Given the description of an element on the screen output the (x, y) to click on. 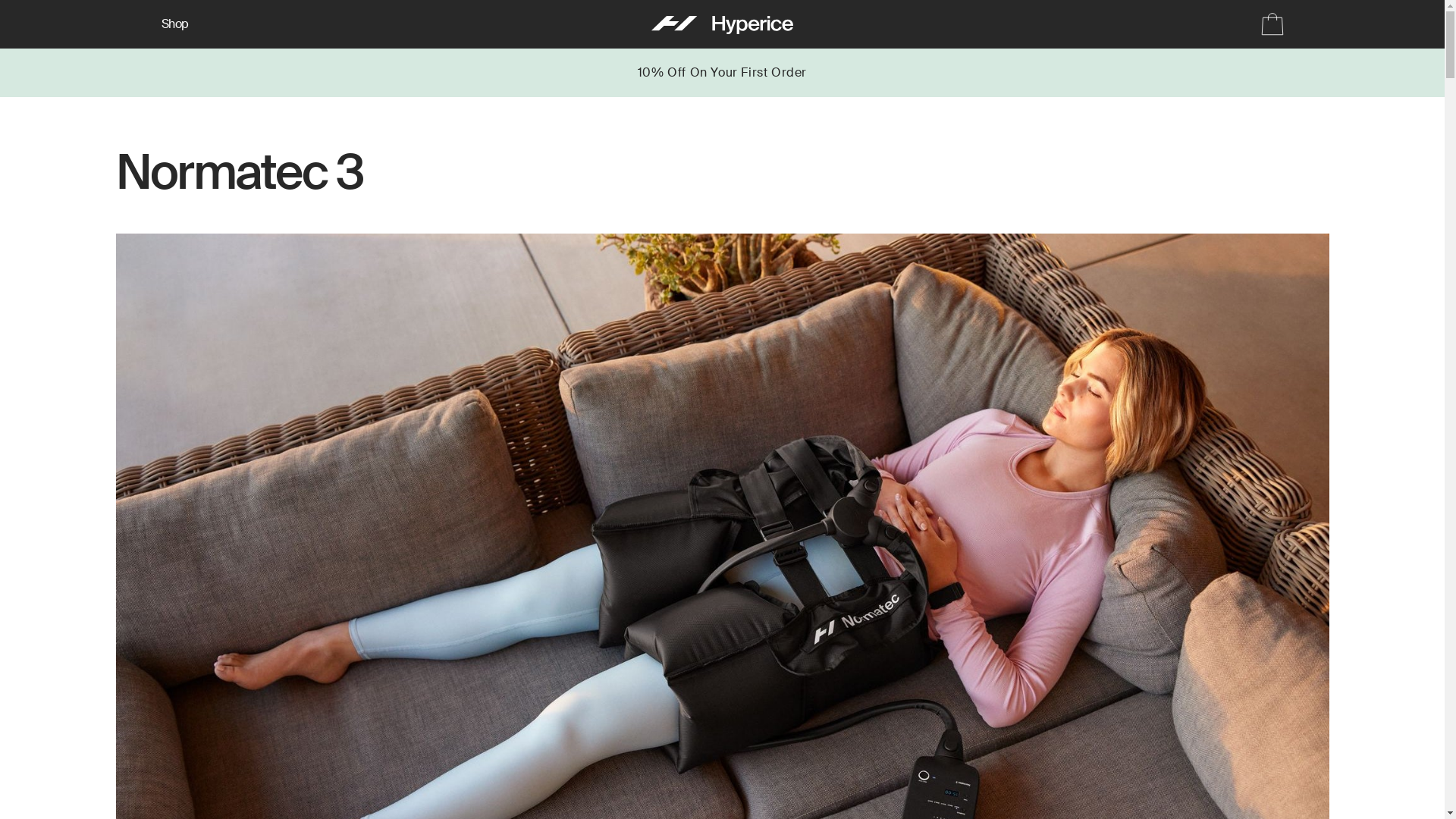
10% Off On Your First Order Element type: text (722, 72)
Shop Element type: text (174, 23)
Cart Element type: text (1266, 23)
